Given the description of an element on the screen output the (x, y) to click on. 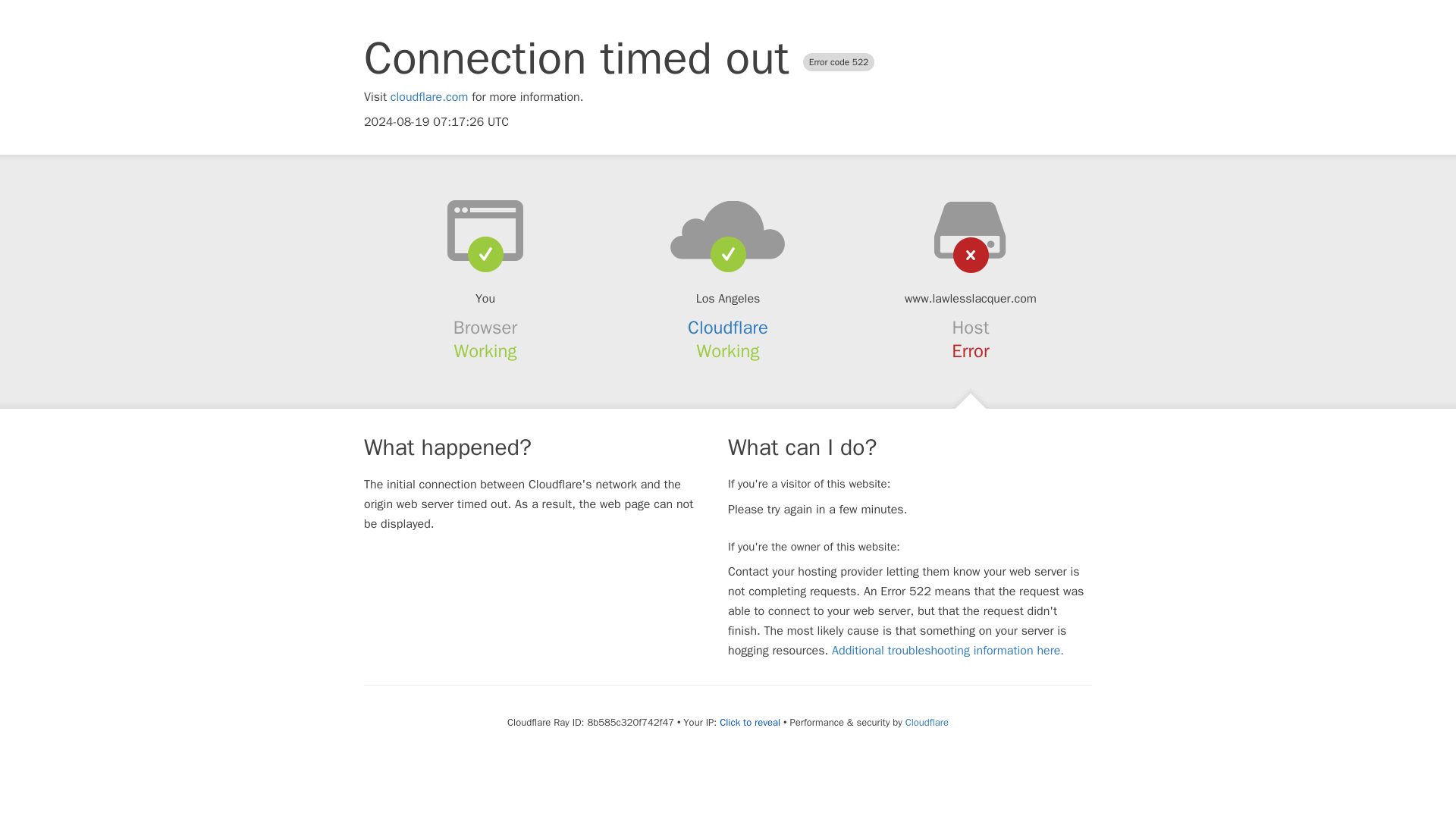
Cloudflare (927, 721)
Click to reveal (749, 722)
Additional troubleshooting information here. (947, 650)
Cloudflare (727, 327)
cloudflare.com (429, 96)
